Given the description of an element on the screen output the (x, y) to click on. 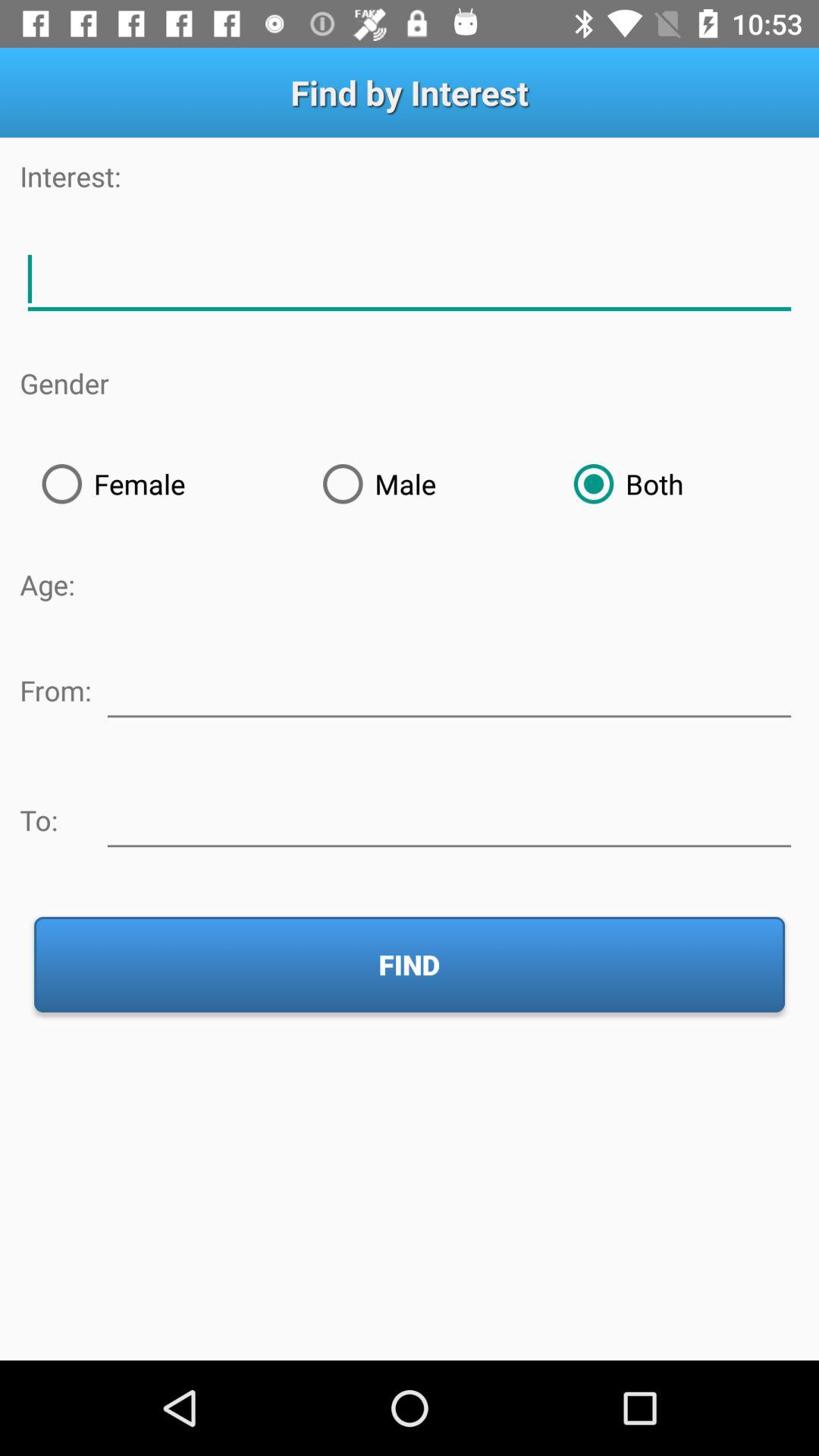
choose the radio button to the right of the female icon (426, 483)
